Given the description of an element on the screen output the (x, y) to click on. 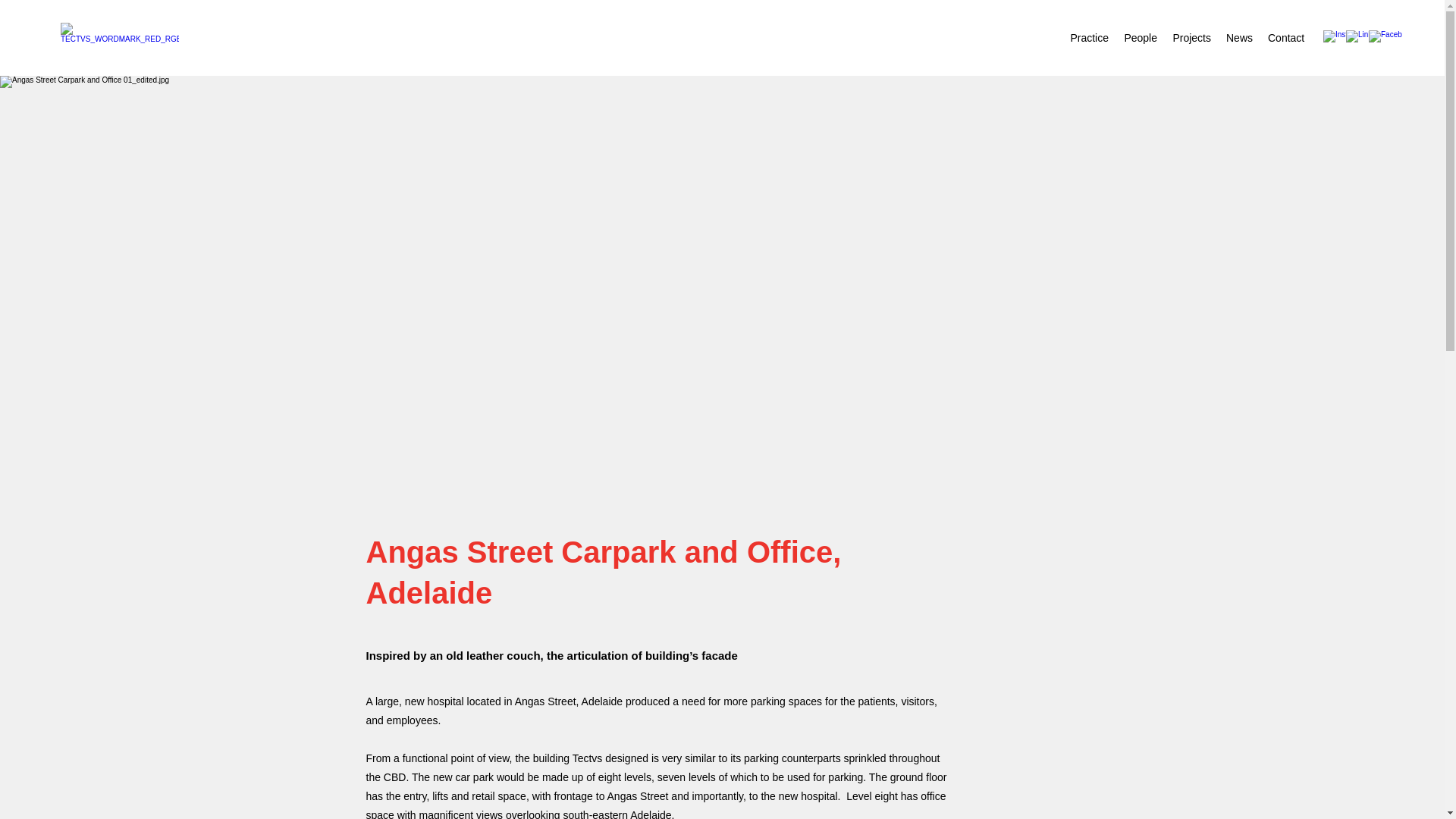
Projects (1191, 37)
People (1140, 37)
Contact (1285, 37)
News (1239, 37)
Practice (1089, 37)
